Given the description of an element on the screen output the (x, y) to click on. 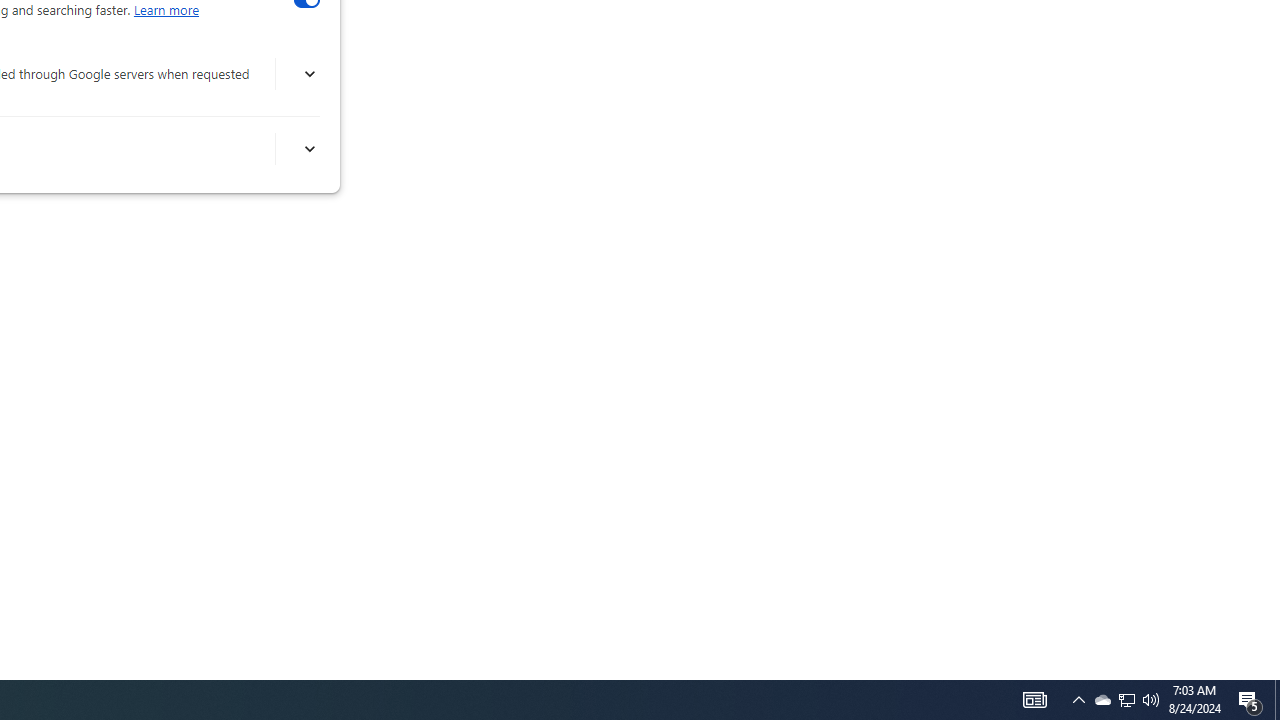
 More info about turning on standard preloading (308, 149)
 More info about turning on extended preloading (308, 74)
